Given the description of an element on the screen output the (x, y) to click on. 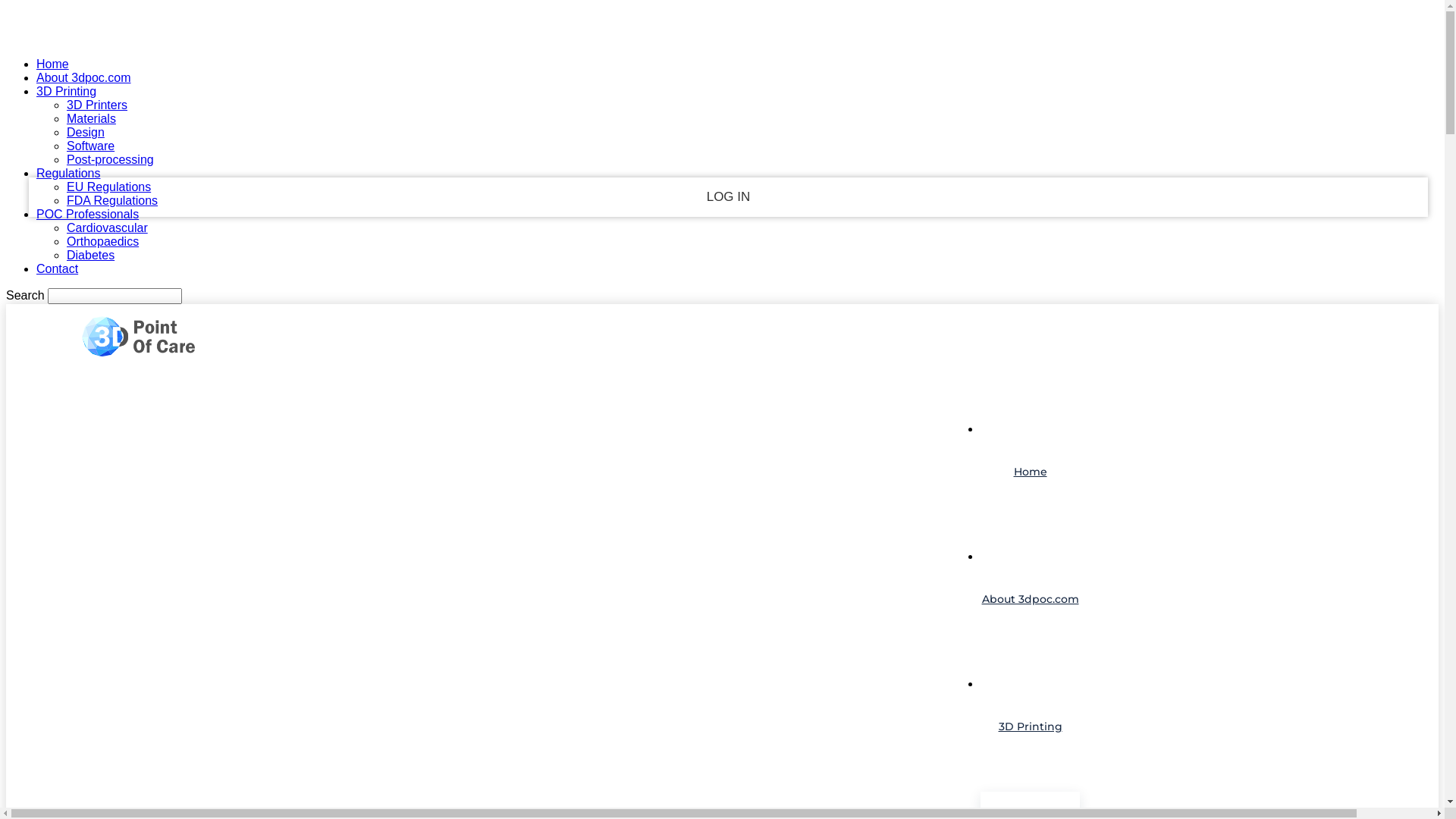
EU Regulations Element type: text (108, 186)
Materials Element type: text (91, 118)
Home Element type: text (1029, 471)
Software Element type: text (90, 145)
About 3dpoc.com Element type: text (1029, 598)
Post-processing Element type: text (109, 159)
Contact Element type: text (57, 268)
Privacy Policy Element type: text (728, 263)
Cardiovascular Element type: text (106, 227)
Sign in Element type: text (721, 23)
FDA Regulations Element type: text (111, 200)
Orthopaedics Element type: text (102, 241)
POC Professionals Element type: text (87, 213)
3D Printing Element type: text (66, 90)
3D Printers Element type: text (96, 104)
About 3dpoc.com Element type: text (83, 77)
Forgot your password? Element type: text (728, 234)
Design Element type: text (85, 131)
Diabetes Element type: text (90, 254)
3D Printing Element type: text (1029, 727)
Home Element type: text (52, 63)
Regulations Element type: text (68, 172)
